Given the description of an element on the screen output the (x, y) to click on. 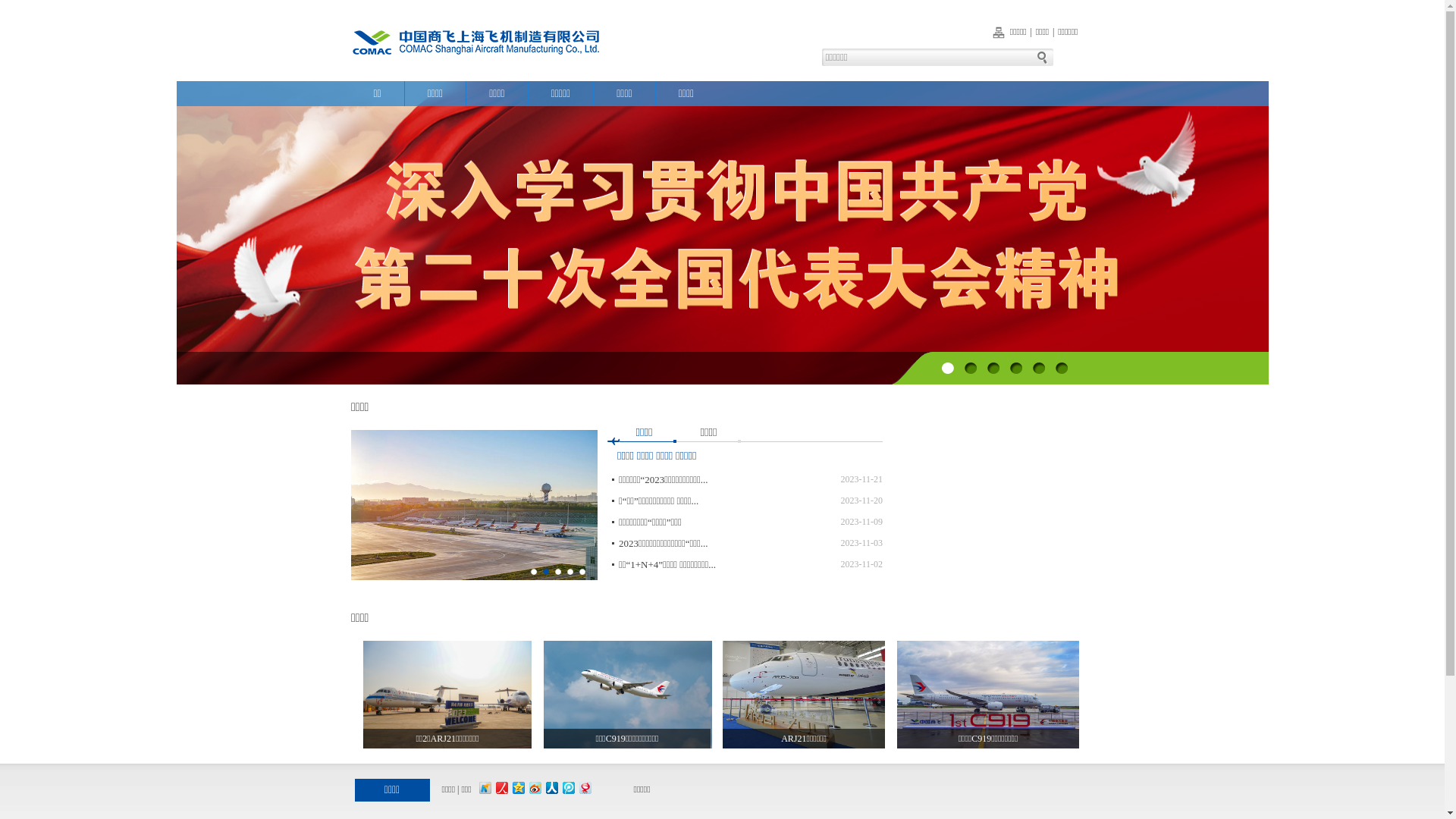
6 Element type: text (1061, 367)
4 Element type: text (1016, 367)
3 Element type: text (993, 367)
1 Element type: text (947, 367)
5 Element type: text (1038, 367)
2 Element type: text (970, 367)
